Given the description of an element on the screen output the (x, y) to click on. 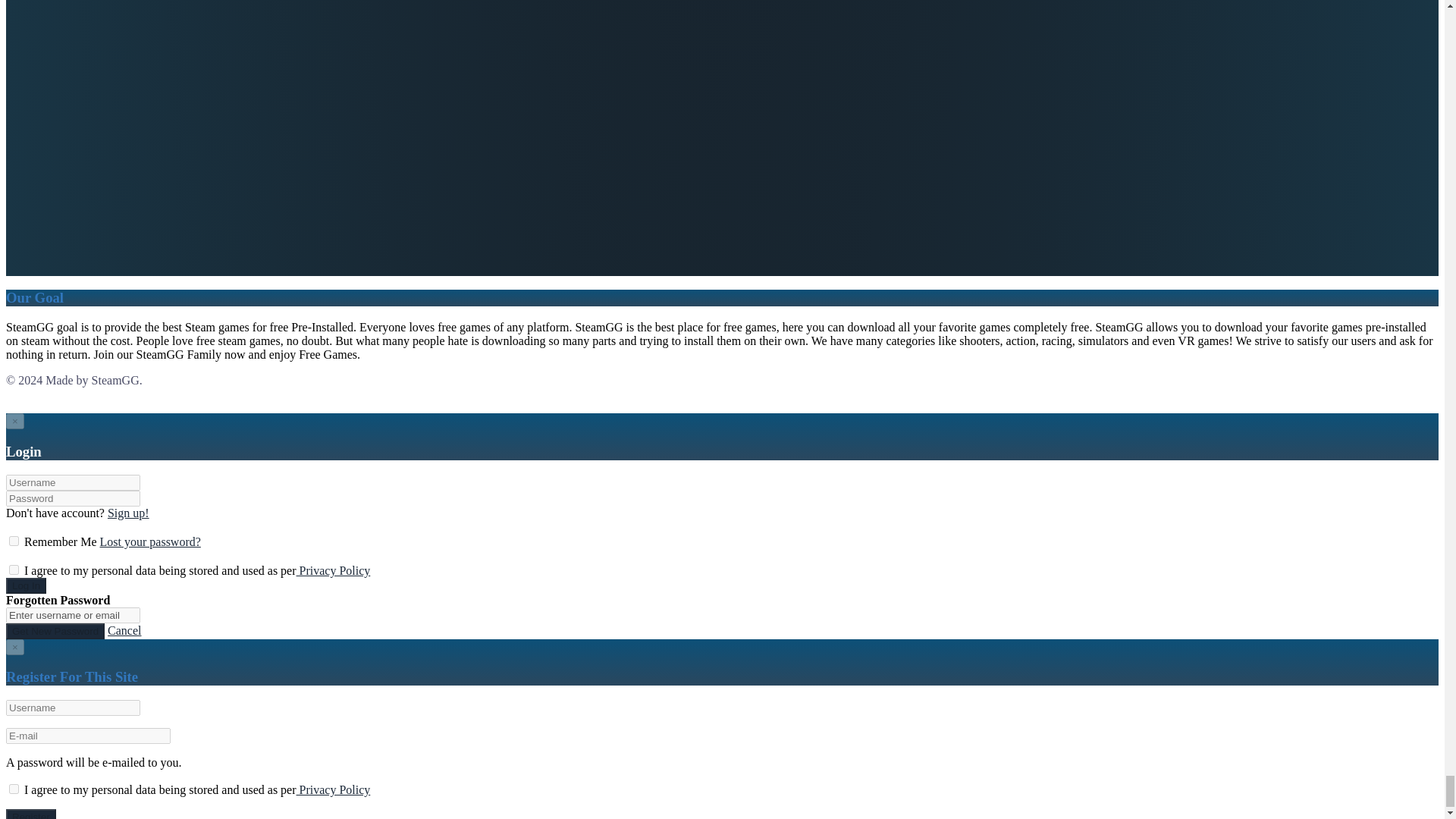
Enter username or email (72, 615)
Get New Password (54, 631)
yes (13, 788)
yes (13, 569)
Register (128, 512)
forever (13, 541)
Log In (25, 585)
Password Lost and Found (150, 541)
